Given the description of an element on the screen output the (x, y) to click on. 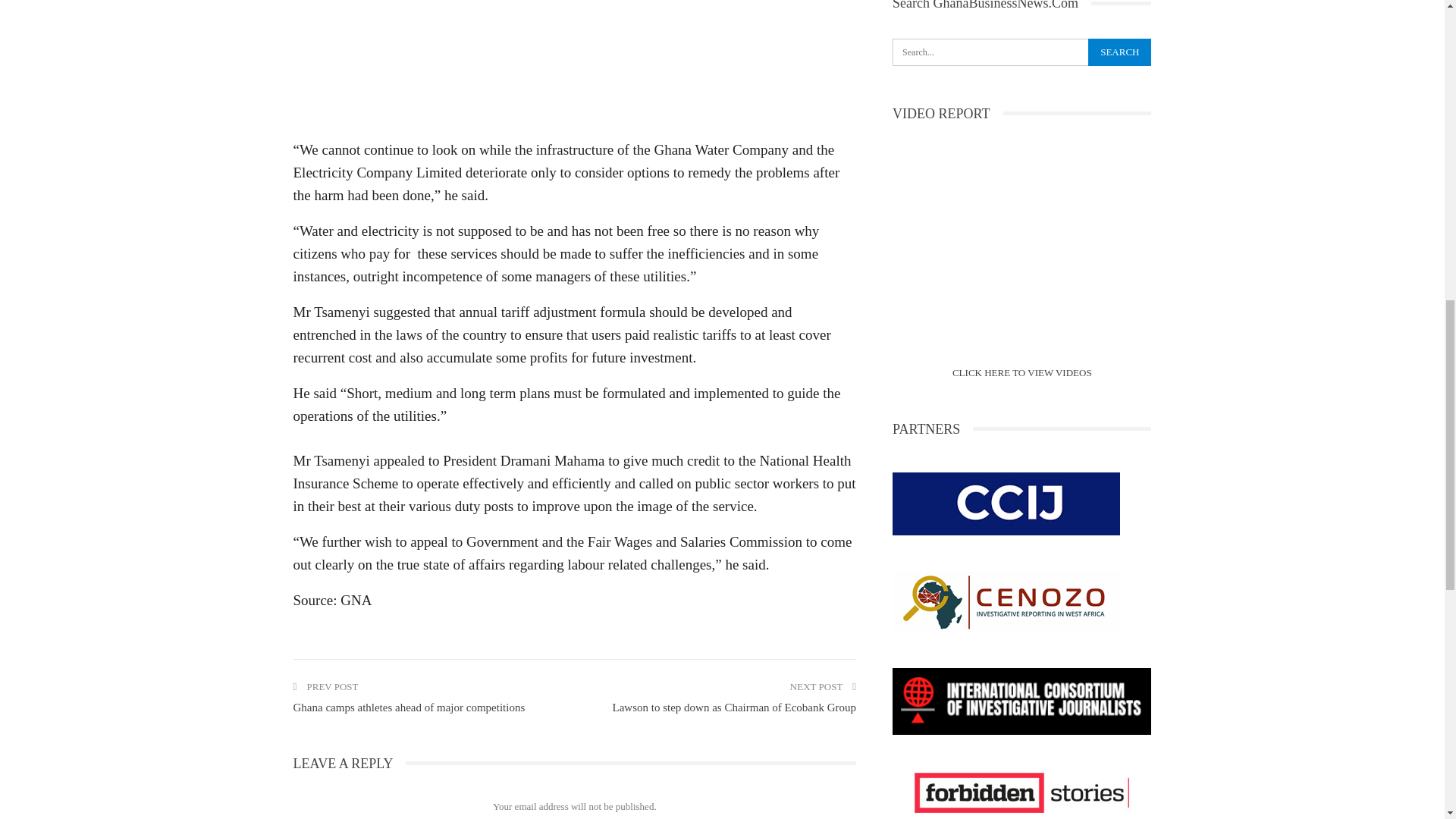
Search (1119, 52)
Advertisement (574, 64)
Ghana camps athletes ahead of major competitions (408, 707)
Search (1119, 52)
Lawson to step down as Chairman of Ecobank Group (733, 707)
